Given the description of an element on the screen output the (x, y) to click on. 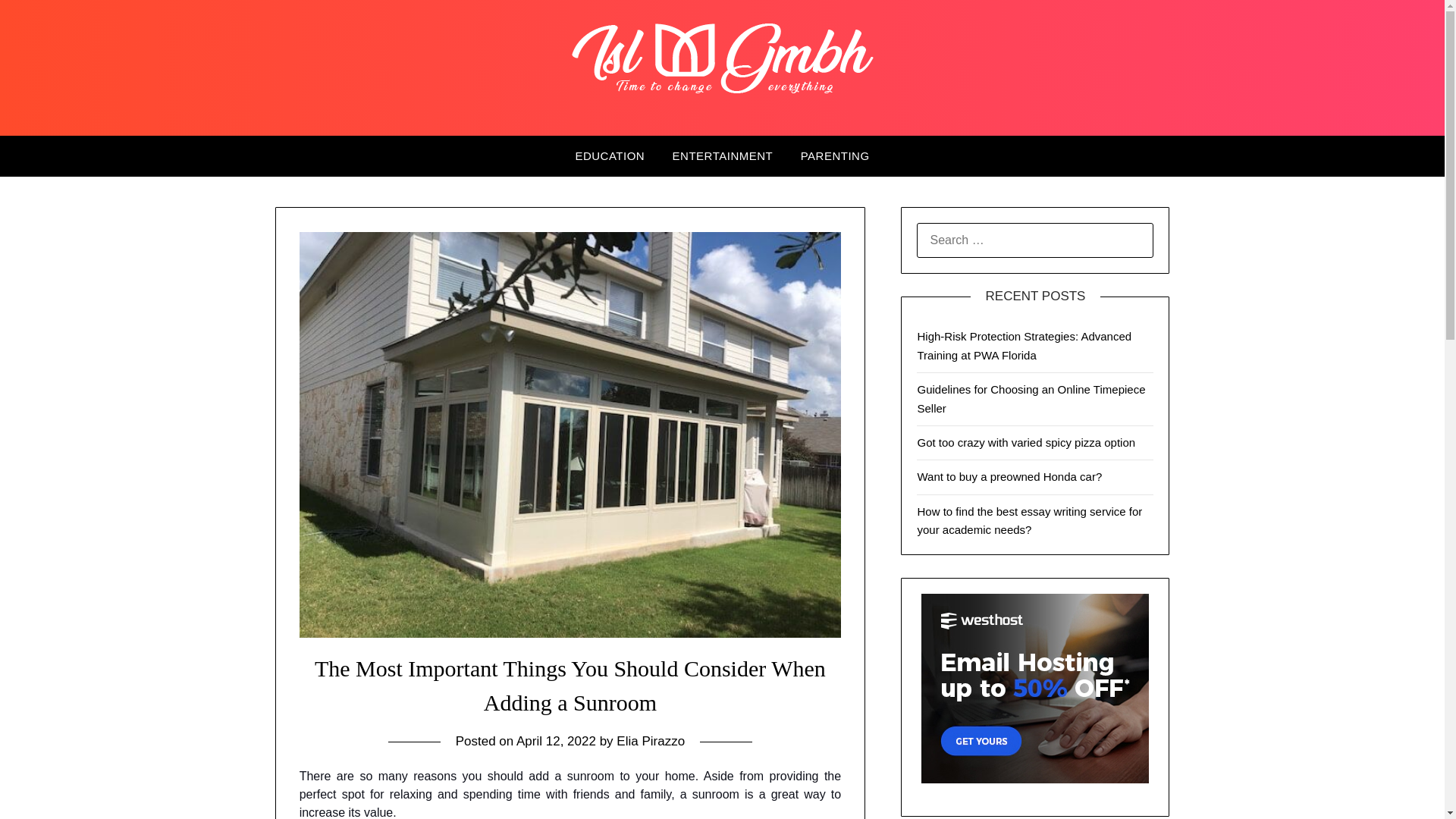
Elia Pirazzo (649, 740)
Got too crazy with varied spicy pizza option (1026, 441)
PARENTING (835, 155)
Search (38, 22)
EDUCATION (609, 155)
April 12, 2022 (555, 740)
Want to buy a preowned Honda car? (1009, 476)
Guidelines for Choosing an Online Timepiece Seller (1030, 398)
ENTERTAINMENT (723, 155)
